Given the description of an element on the screen output the (x, y) to click on. 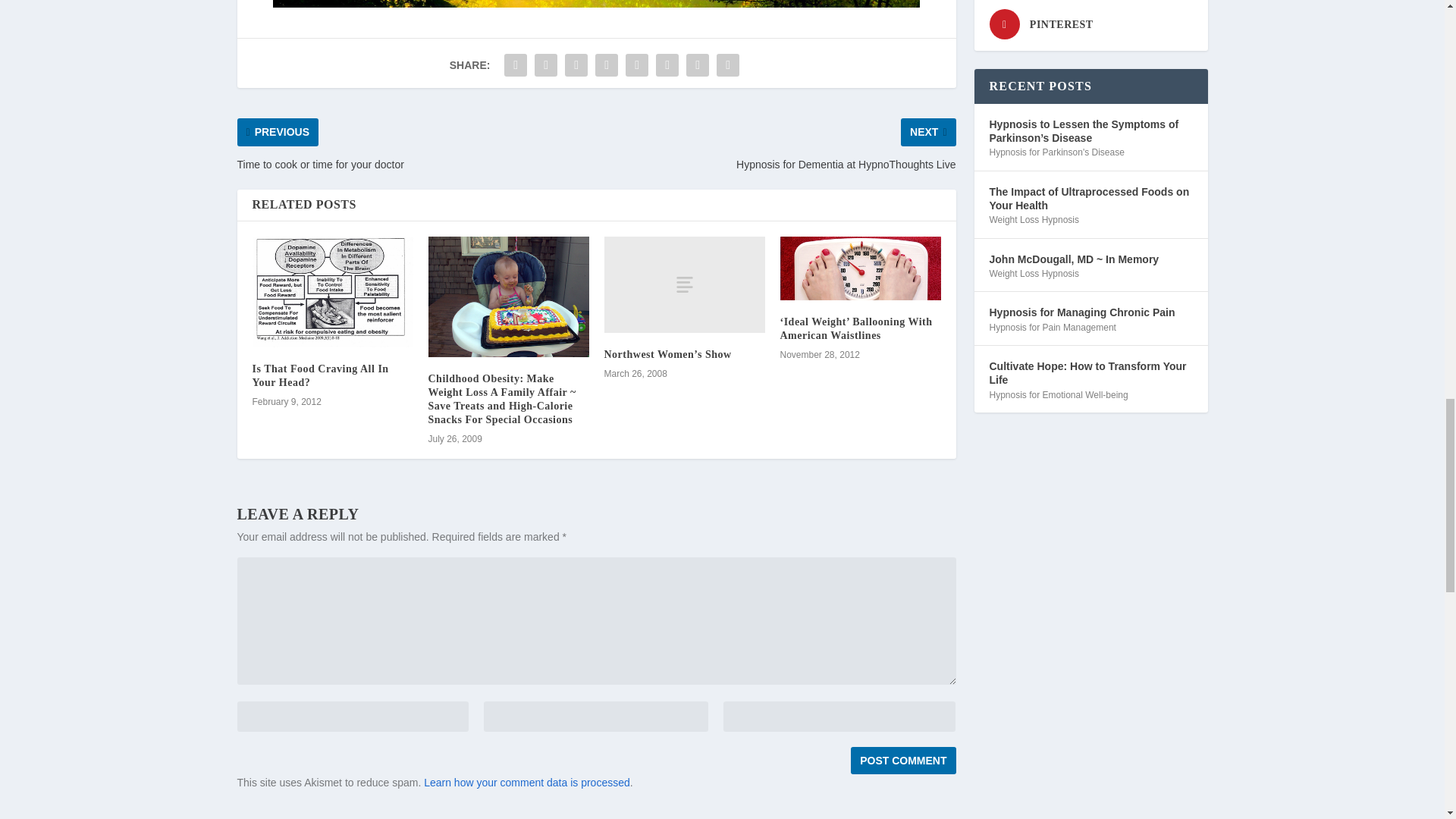
Share "Lemon Pepper Cauliflower Steaks" via Tumblr (606, 64)
Share "Lemon Pepper Cauliflower Steaks" via Email (697, 64)
Share "Lemon Pepper Cauliflower Steaks" via Twitter (545, 64)
Share "Lemon Pepper Cauliflower Steaks" via LinkedIn (667, 64)
Share "Lemon Pepper Cauliflower Steaks" via Print (727, 64)
Post Comment (902, 759)
Share "Lemon Pepper Cauliflower Steaks" via Pinterest (636, 64)
Share "Lemon Pepper Cauliflower Steaks" via Facebook (515, 64)
